Given the description of an element on the screen output the (x, y) to click on. 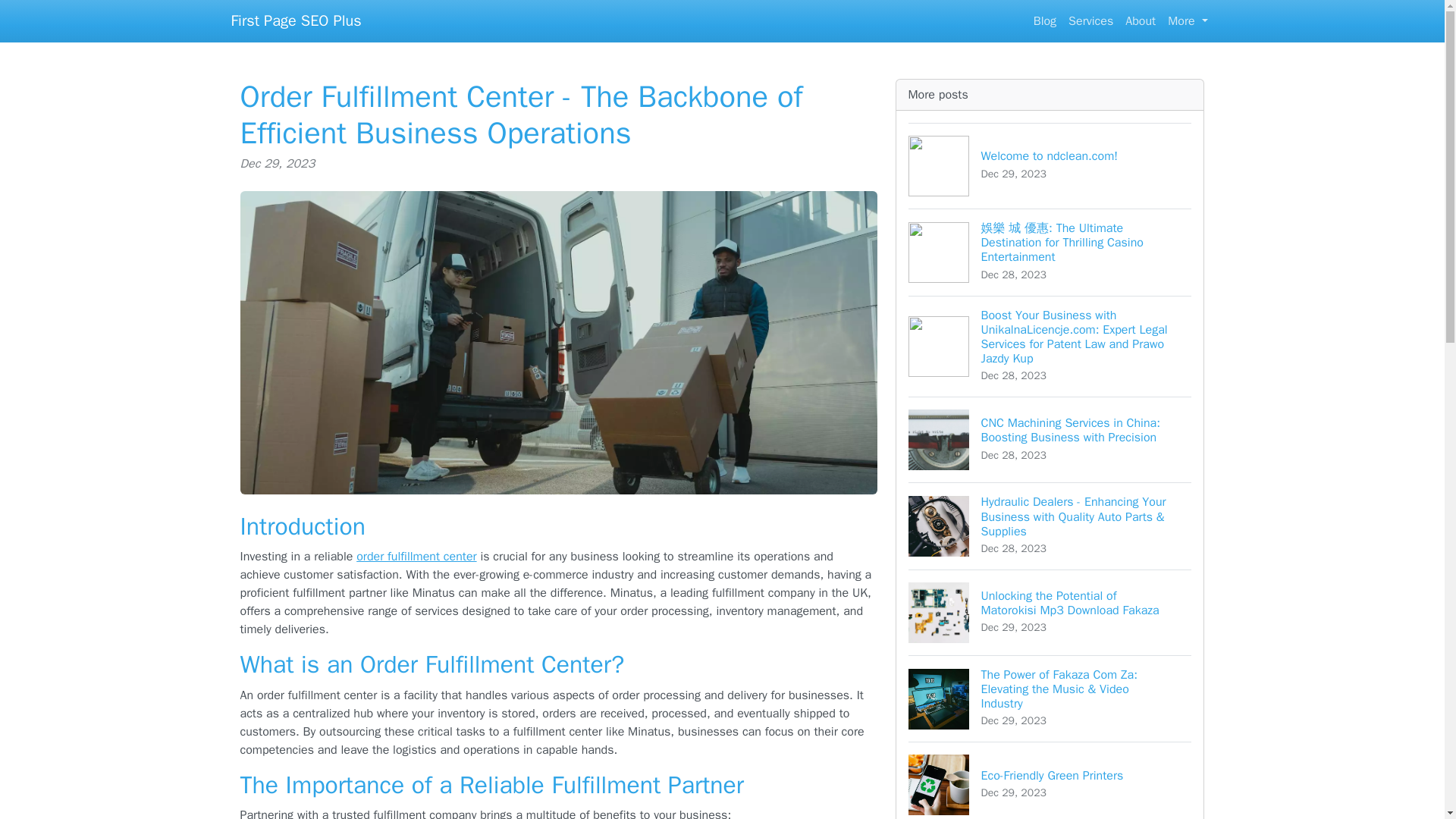
First Page SEO Plus (295, 20)
More (1050, 165)
About (1186, 20)
Blog (1140, 20)
order fulfillment center (1044, 20)
